Given the description of an element on the screen output the (x, y) to click on. 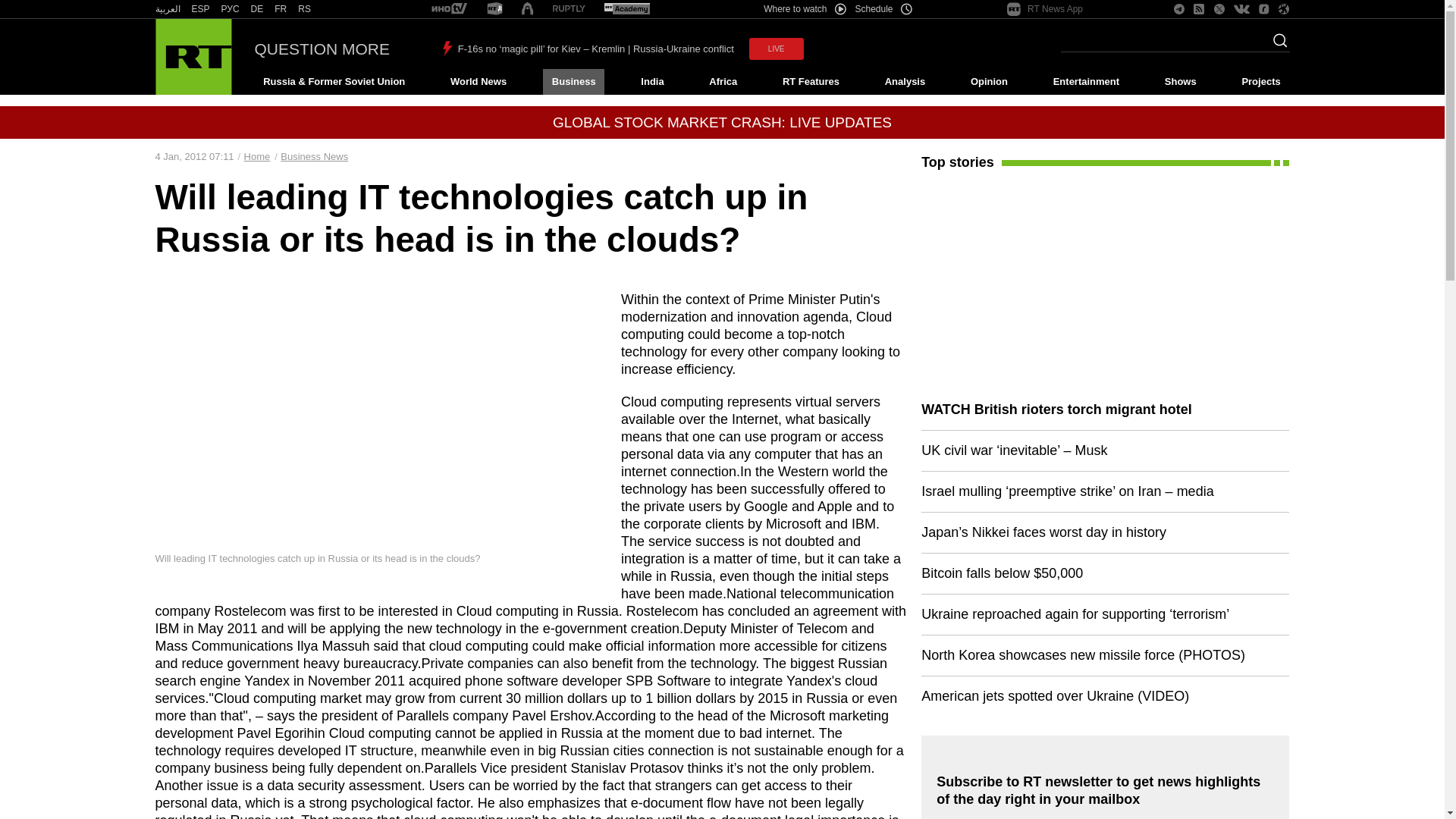
RT  (230, 9)
RT News App (1045, 9)
RT  (448, 9)
ESP (199, 9)
RT  (569, 8)
World News (478, 81)
RT Features (810, 81)
RT  (626, 9)
Search (1276, 44)
Where to watch (803, 9)
RS (304, 9)
Opinion (988, 81)
Search (1276, 44)
RT  (526, 9)
Shows (1180, 81)
